Given the description of an element on the screen output the (x, y) to click on. 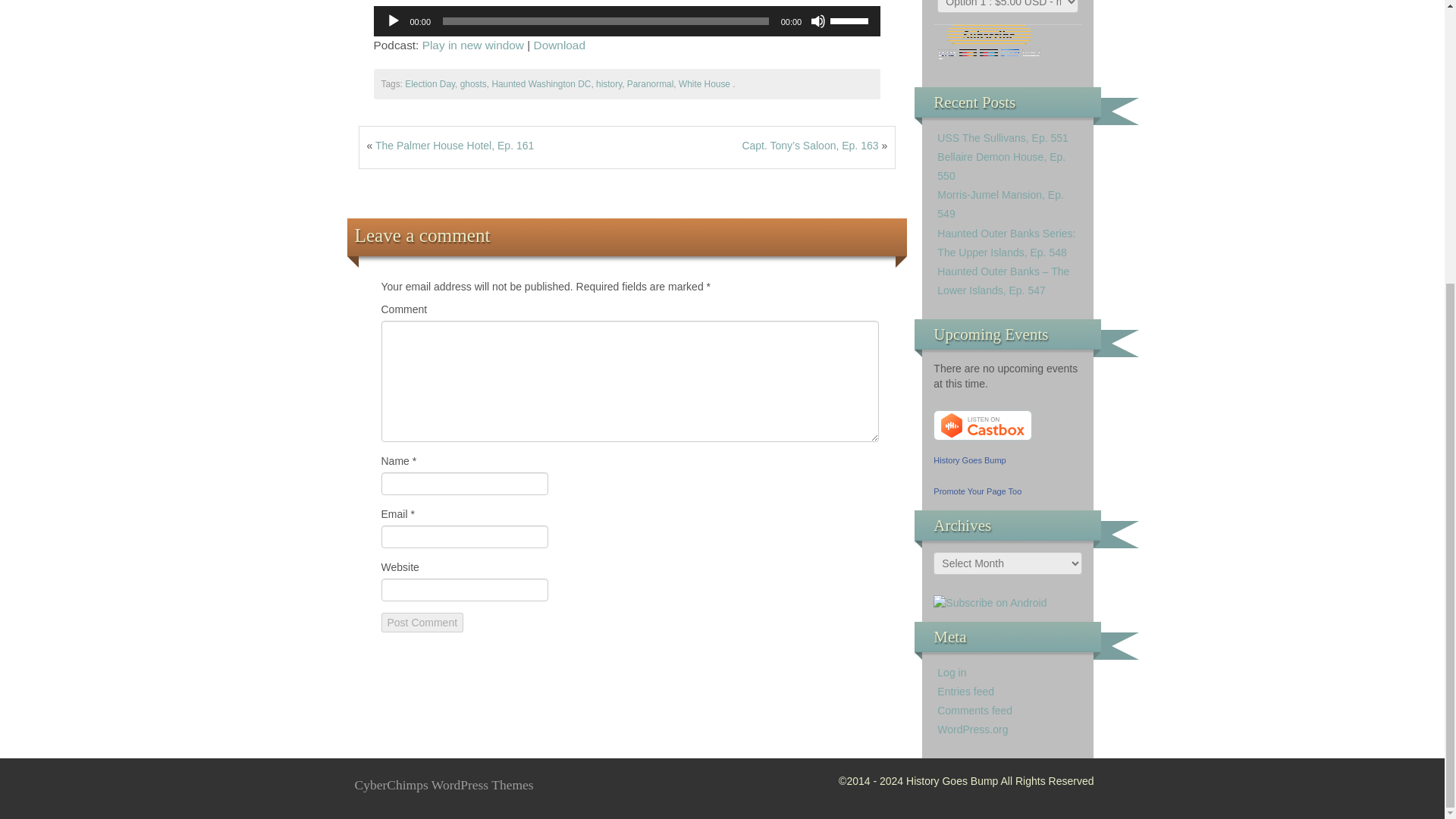
White House (704, 83)
history (608, 83)
Haunted Washington DC (541, 83)
Play in new window (473, 44)
Paranormal (649, 83)
Download (559, 44)
Download (559, 44)
Post Comment (421, 622)
Election Day (429, 83)
USS The Sullivans, Ep. 551 (1002, 137)
